Given the description of an element on the screen output the (x, y) to click on. 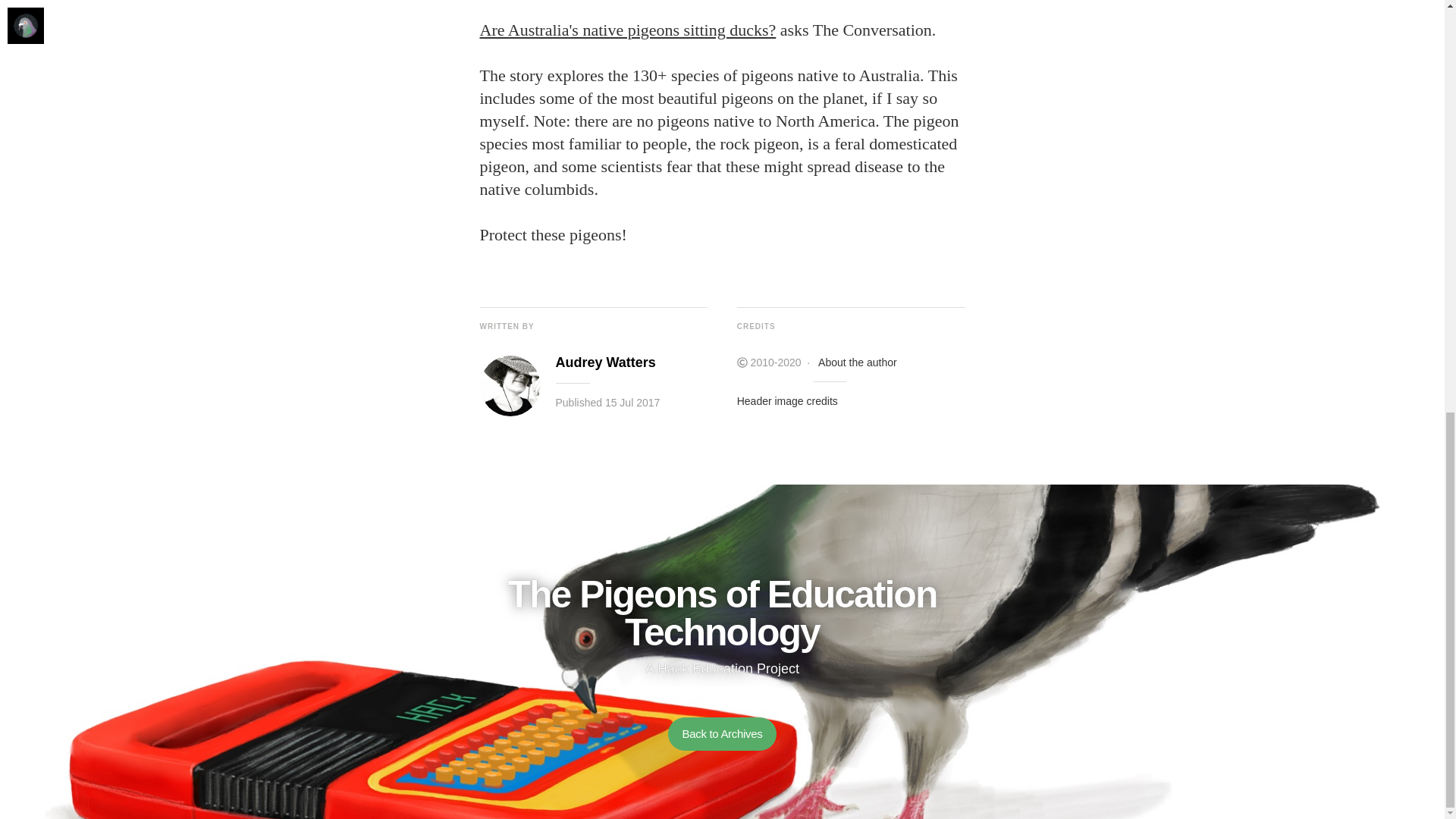
Header image credits (787, 400)
Are Australia's native pigeons sitting ducks? (627, 29)
About the author (857, 362)
Back to Archives (722, 734)
